Given the description of an element on the screen output the (x, y) to click on. 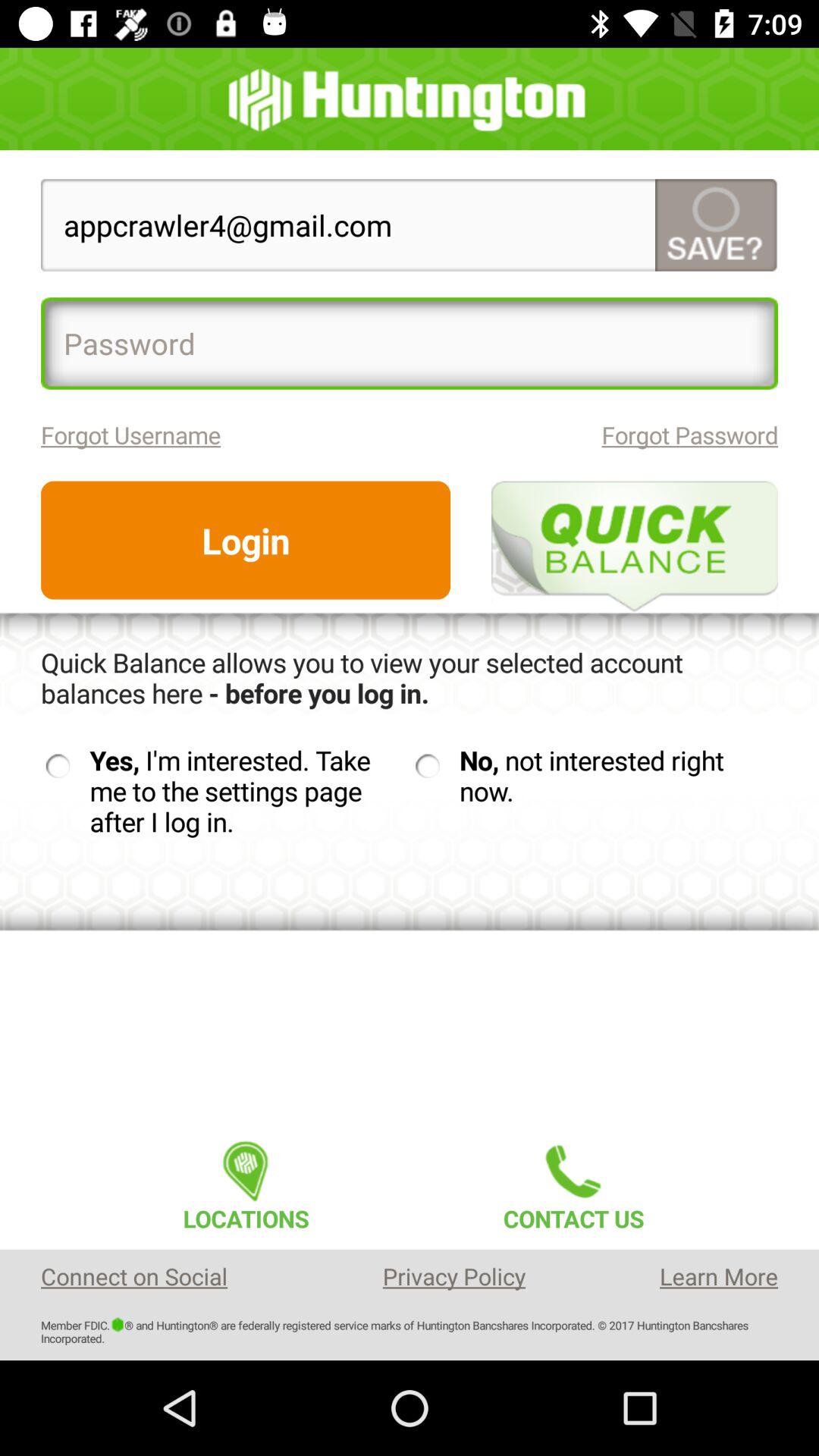
choose item above forgot username item (409, 343)
